Given the description of an element on the screen output the (x, y) to click on. 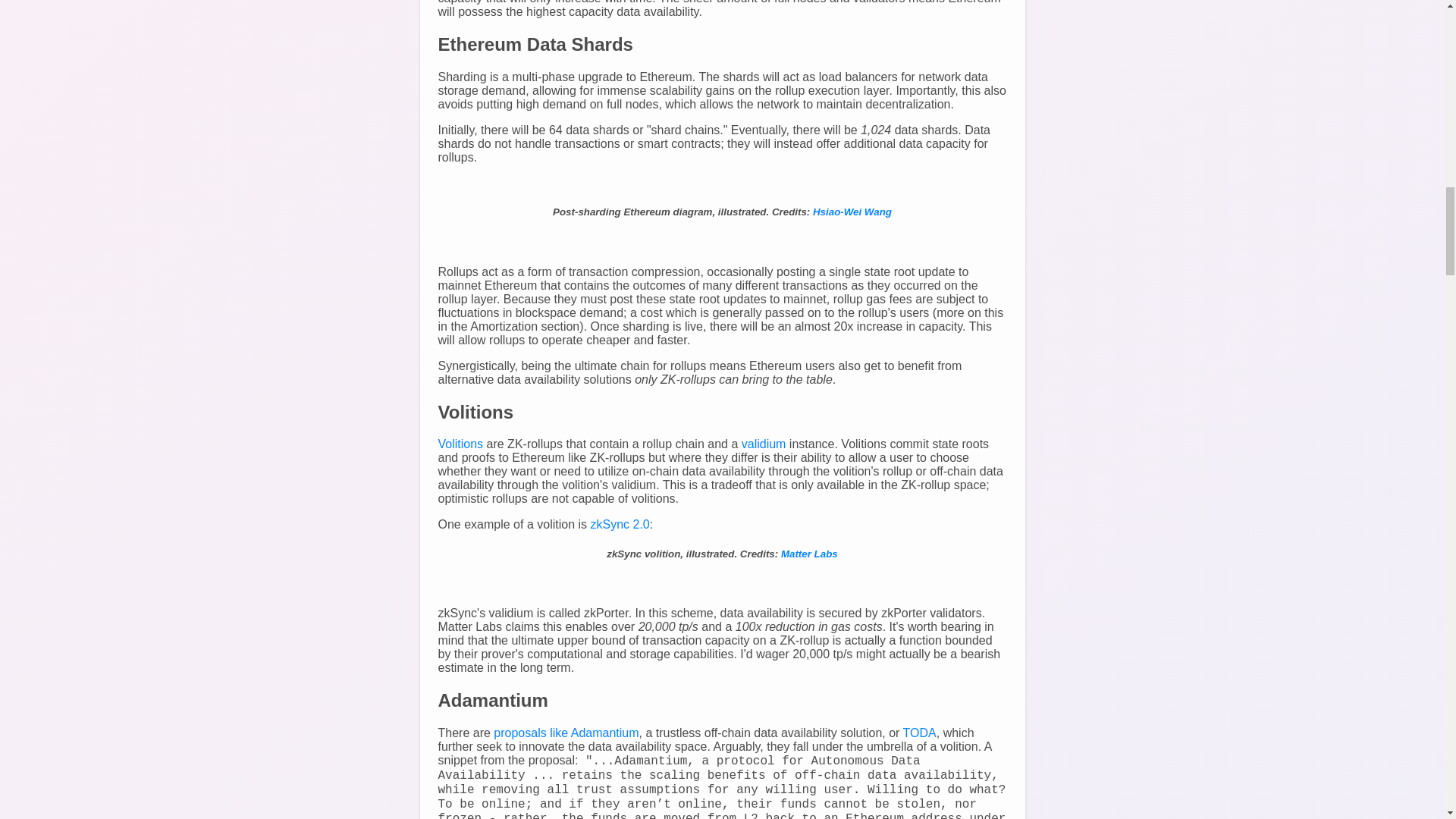
Matter Labs (809, 553)
Hsiao-Wei Wang (851, 211)
proposals like Adamantium (566, 732)
TODA (919, 732)
validium (763, 443)
Volitions (460, 443)
zkSync 2.0 (619, 523)
